Given the description of an element on the screen output the (x, y) to click on. 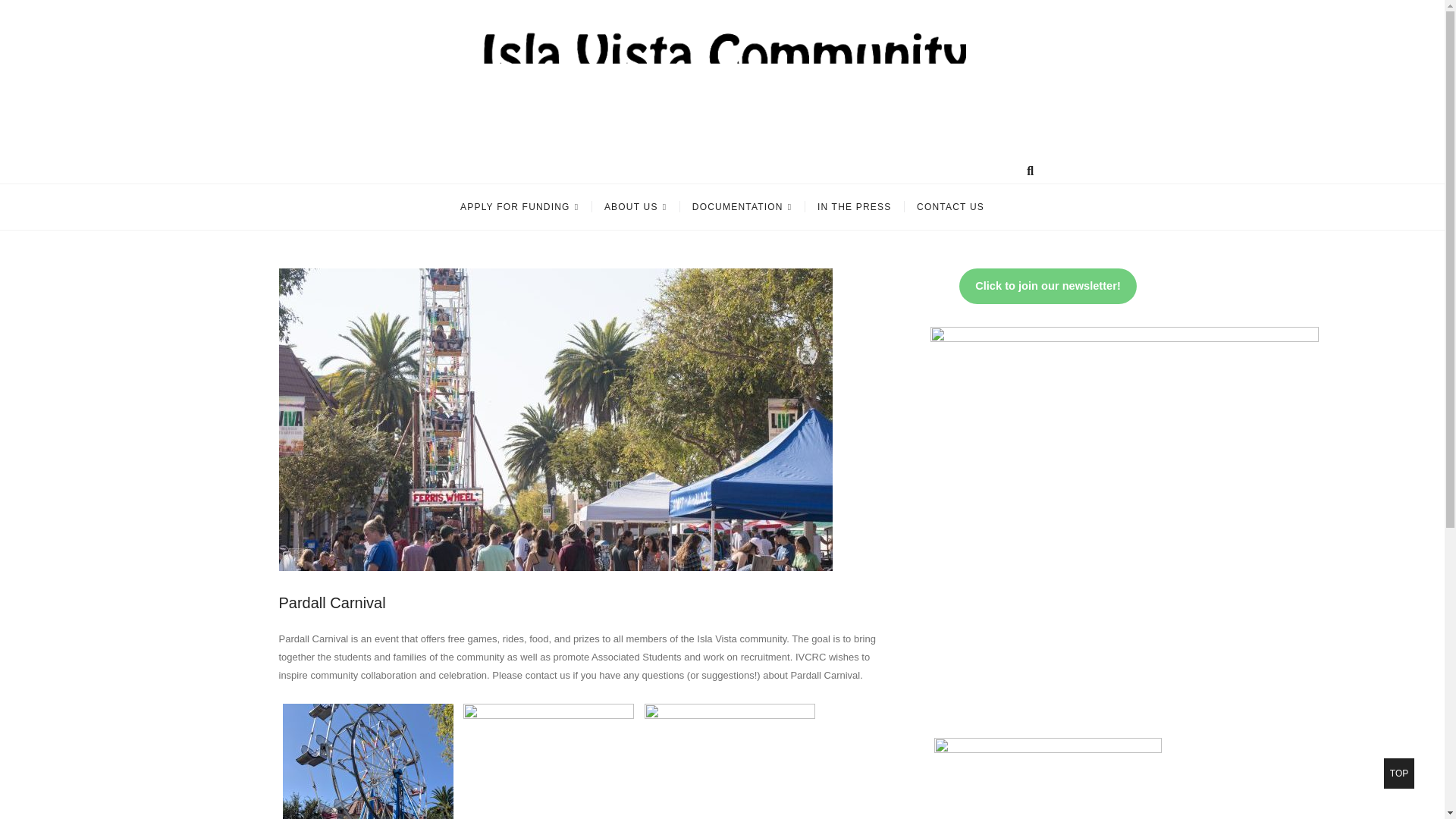
IN THE PRESS (854, 207)
CONTACT US (950, 207)
ABOUT US (635, 207)
Pardall Carnival (332, 602)
DOCUMENTATION (742, 207)
Click to join our newsletter! (1398, 773)
Pardall Carnival (1048, 286)
APPLY FOR FUNDING (332, 602)
